Given the description of an element on the screen output the (x, y) to click on. 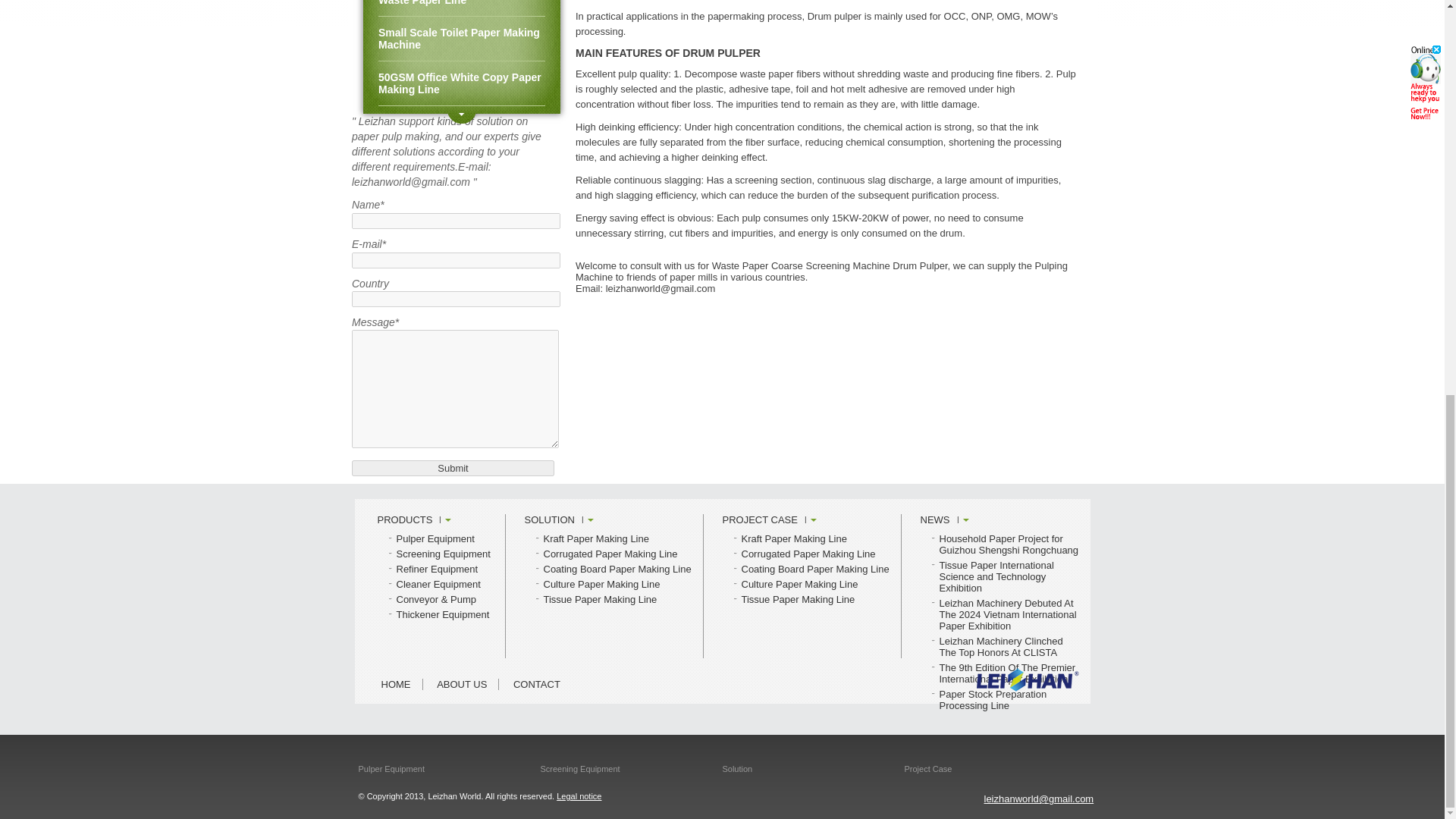
PRODUCTS (414, 519)
Small Scale Toilet Paper Making Machine (461, 38)
Submit (453, 467)
50GSM Office White Copy Paper Making Line (461, 83)
Broken Pulper For Recycling Waste Paper Line (461, 8)
Submit (453, 467)
Pulper Equipment (435, 538)
